Given the description of an element on the screen output the (x, y) to click on. 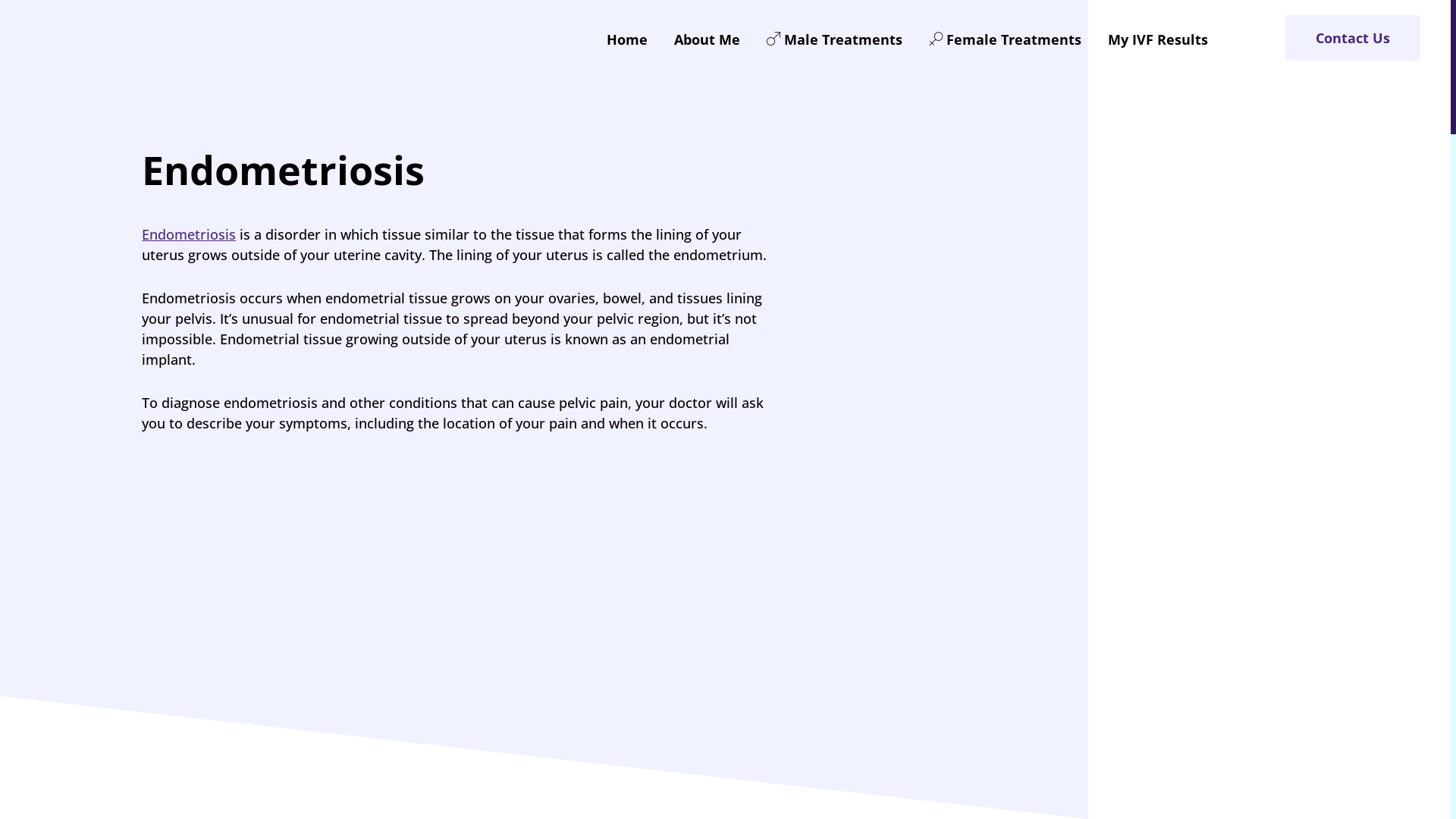
Female Treatments Element type: text (1004, 38)
Male Treatments Element type: text (834, 38)
About Me Element type: text (706, 39)
Home Element type: text (627, 39)
Endometriosis Element type: text (188, 234)
My IVF Results Element type: text (1157, 39)
Contact Us Element type: text (1352, 37)
